Given the description of an element on the screen output the (x, y) to click on. 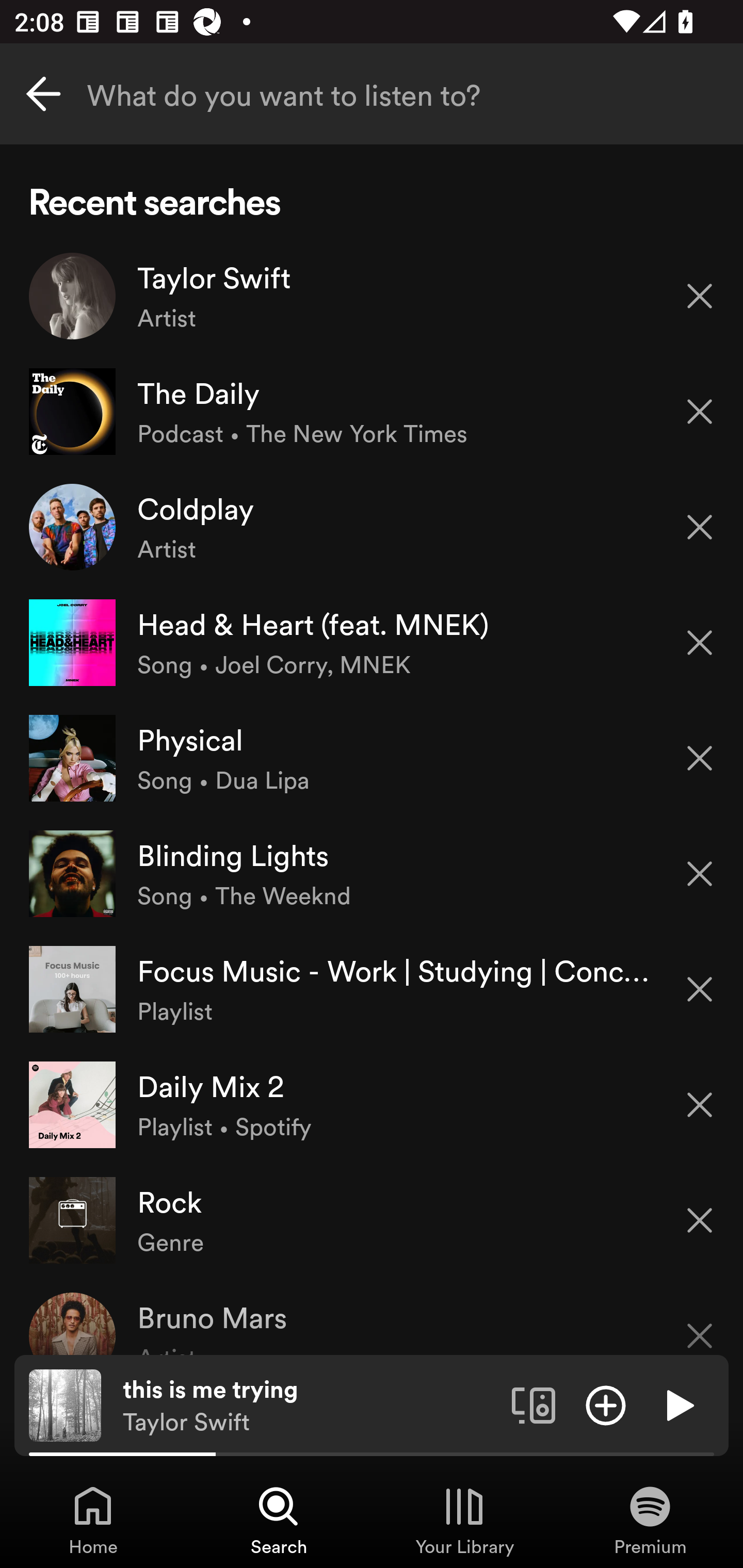
What do you want to listen to? (371, 93)
Cancel (43, 93)
Taylor Swift Artist Remove (371, 296)
Remove (699, 295)
The Daily Podcast • The New York Times Remove (371, 411)
Remove (699, 411)
Coldplay Artist Remove (371, 526)
Remove (699, 527)
Remove (699, 642)
Physical Song • Dua Lipa Remove (371, 757)
Remove (699, 758)
Blinding Lights Song • The Weeknd Remove (371, 873)
Remove (699, 874)
Remove (699, 989)
Daily Mix 2 Playlist • Spotify Remove (371, 1104)
Remove (699, 1104)
Rock Genre Remove (371, 1219)
Remove (699, 1220)
